Given the description of an element on the screen output the (x, y) to click on. 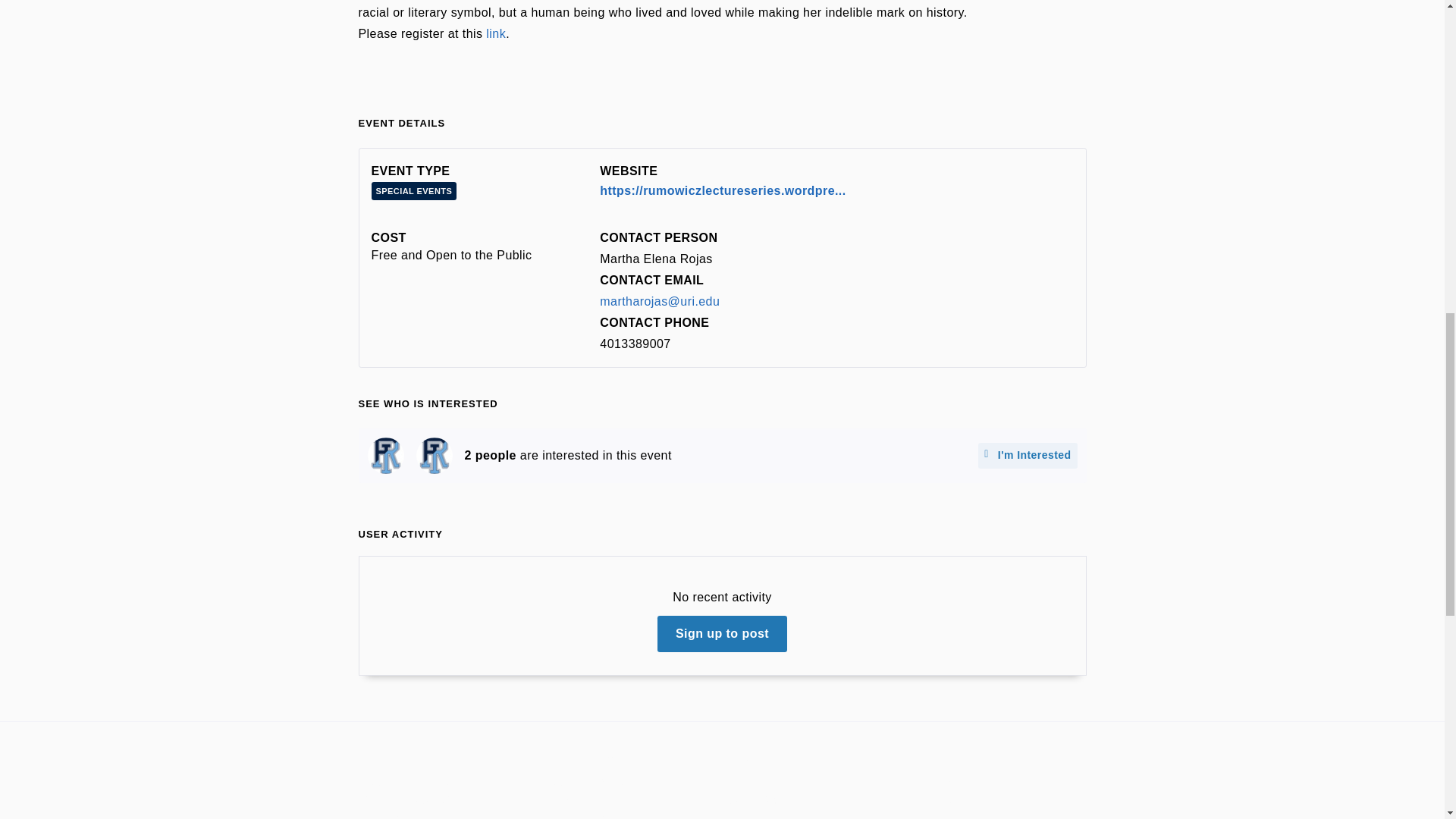
SPECIAL EVENTS (414, 190)
Henry Owen O'Brien (432, 455)
Sign up to post (722, 633)
I'm Interested (1027, 455)
Academic Calendar (449, 781)
MarthaElena Rojas (384, 455)
link (495, 33)
